Given the description of an element on the screen output the (x, y) to click on. 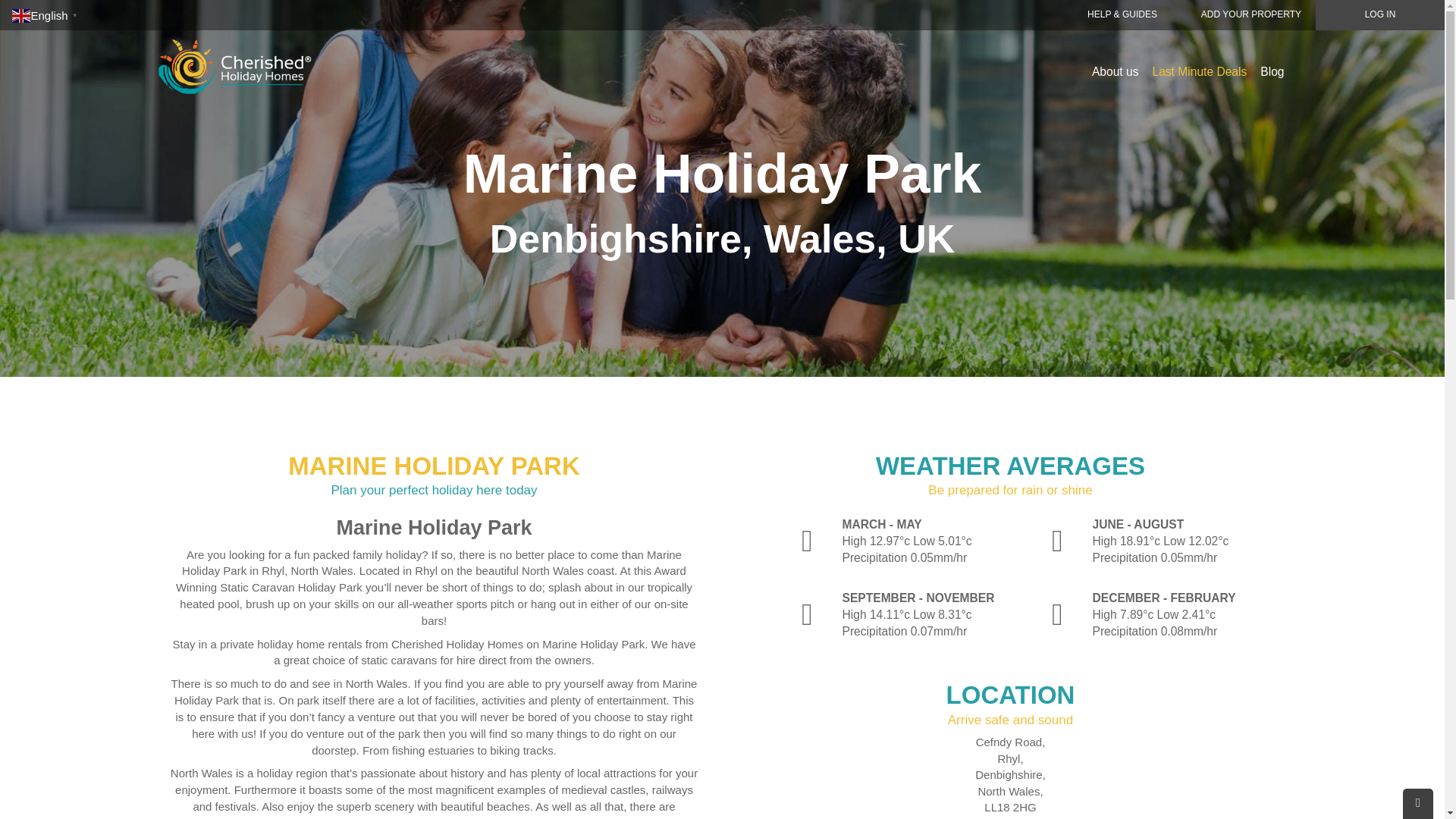
Cherished Holiday Homes (243, 56)
